Given the description of an element on the screen output the (x, y) to click on. 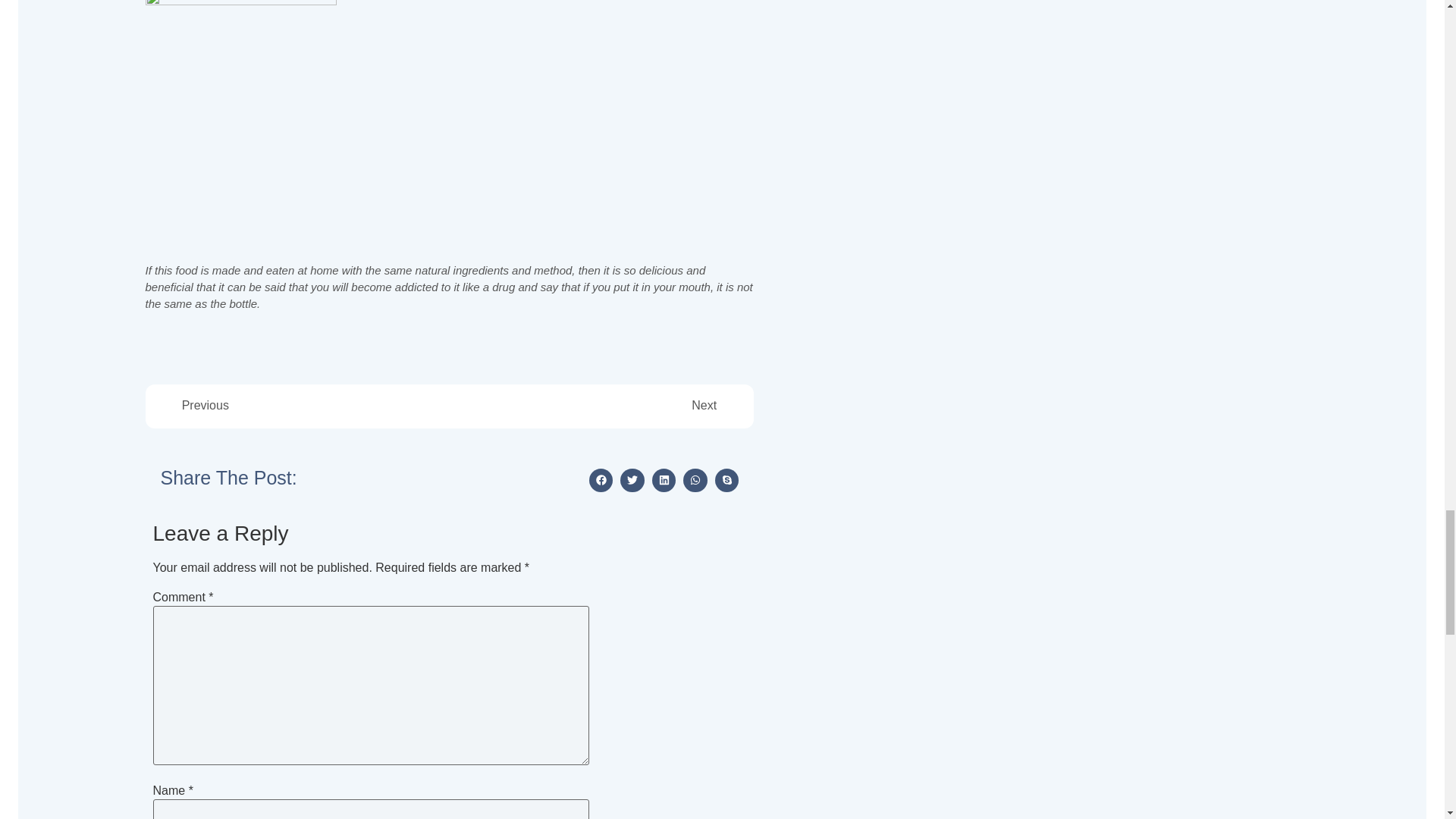
Next (582, 405)
Previous (315, 405)
